Given the description of an element on the screen output the (x, y) to click on. 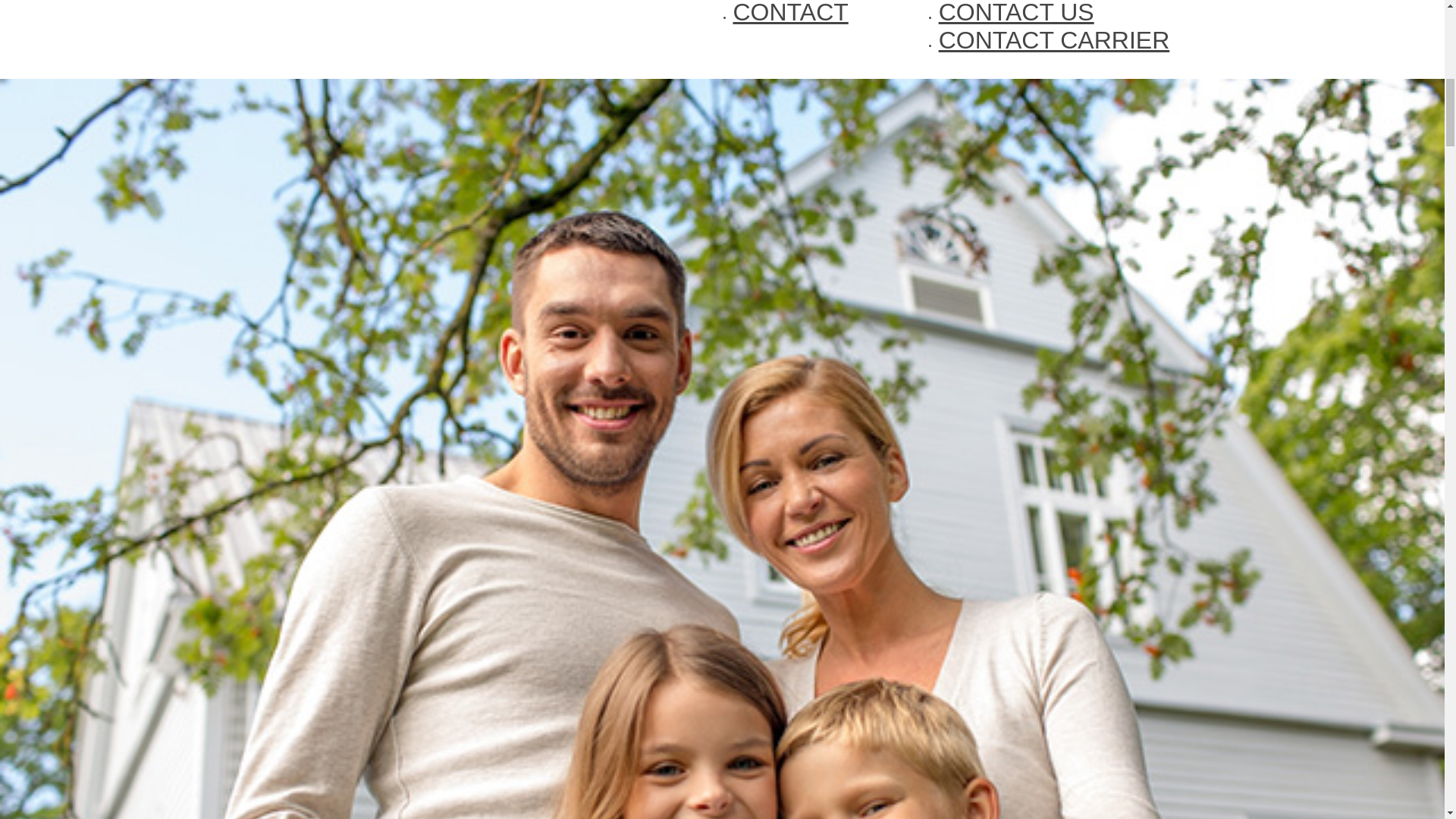
CONTACT US (1016, 12)
CONTACT (789, 12)
CONTACT CARRIER (1054, 40)
